Given the description of an element on the screen output the (x, y) to click on. 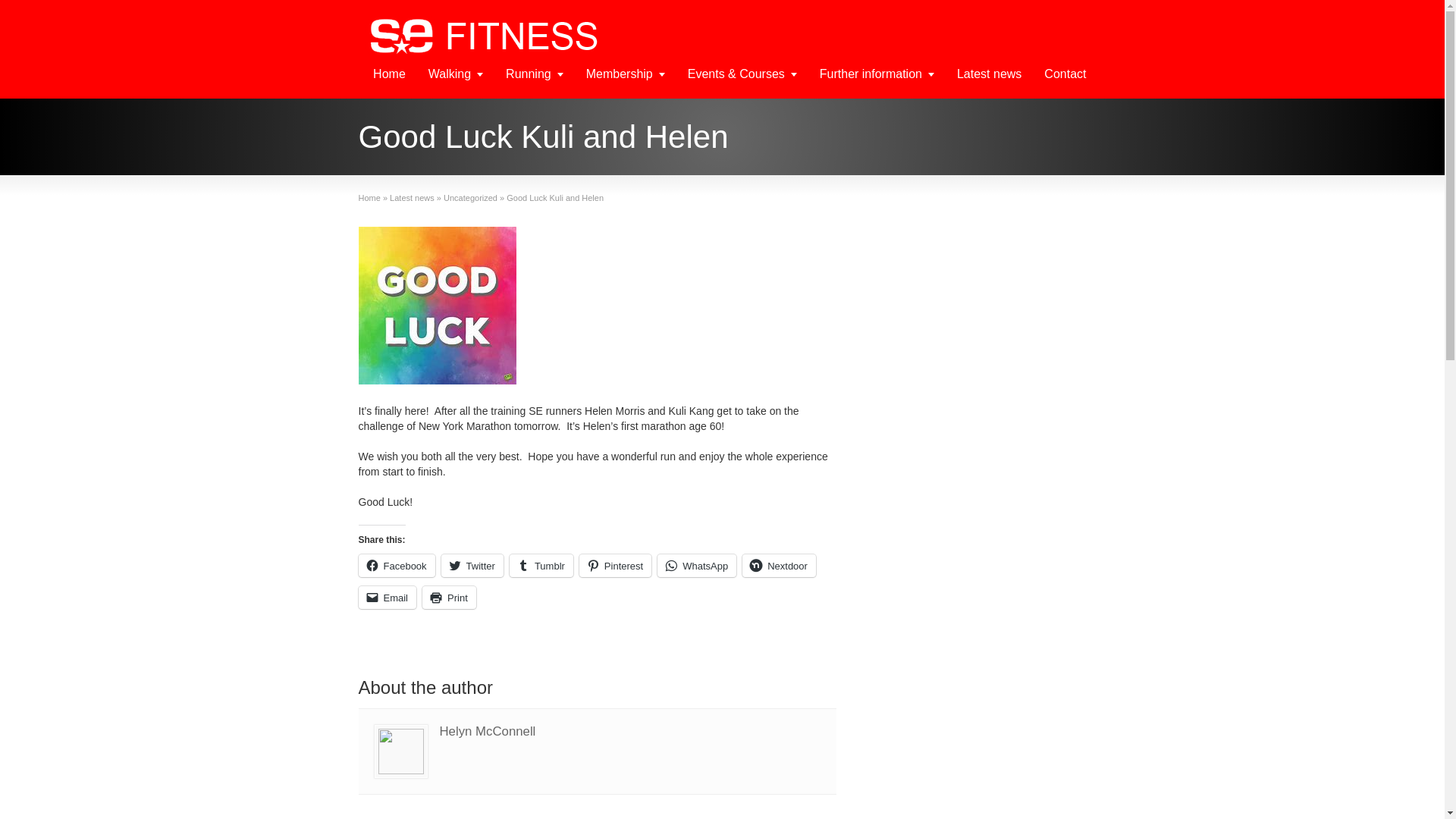
Click to share on Facebook (395, 565)
Uncategorized (470, 197)
Latest news (411, 197)
Running (535, 75)
Home (369, 197)
Walking (455, 75)
Click to share on WhatsApp (697, 565)
Click to share on Tumblr (541, 565)
Latest news (988, 75)
Click to share on Nextdoor (778, 565)
Click to share on Pinterest (614, 565)
Click to share on Twitter (472, 565)
Click to email a link to a friend (387, 597)
Uncategorized (470, 197)
Facebook (395, 565)
